Given the description of an element on the screen output the (x, y) to click on. 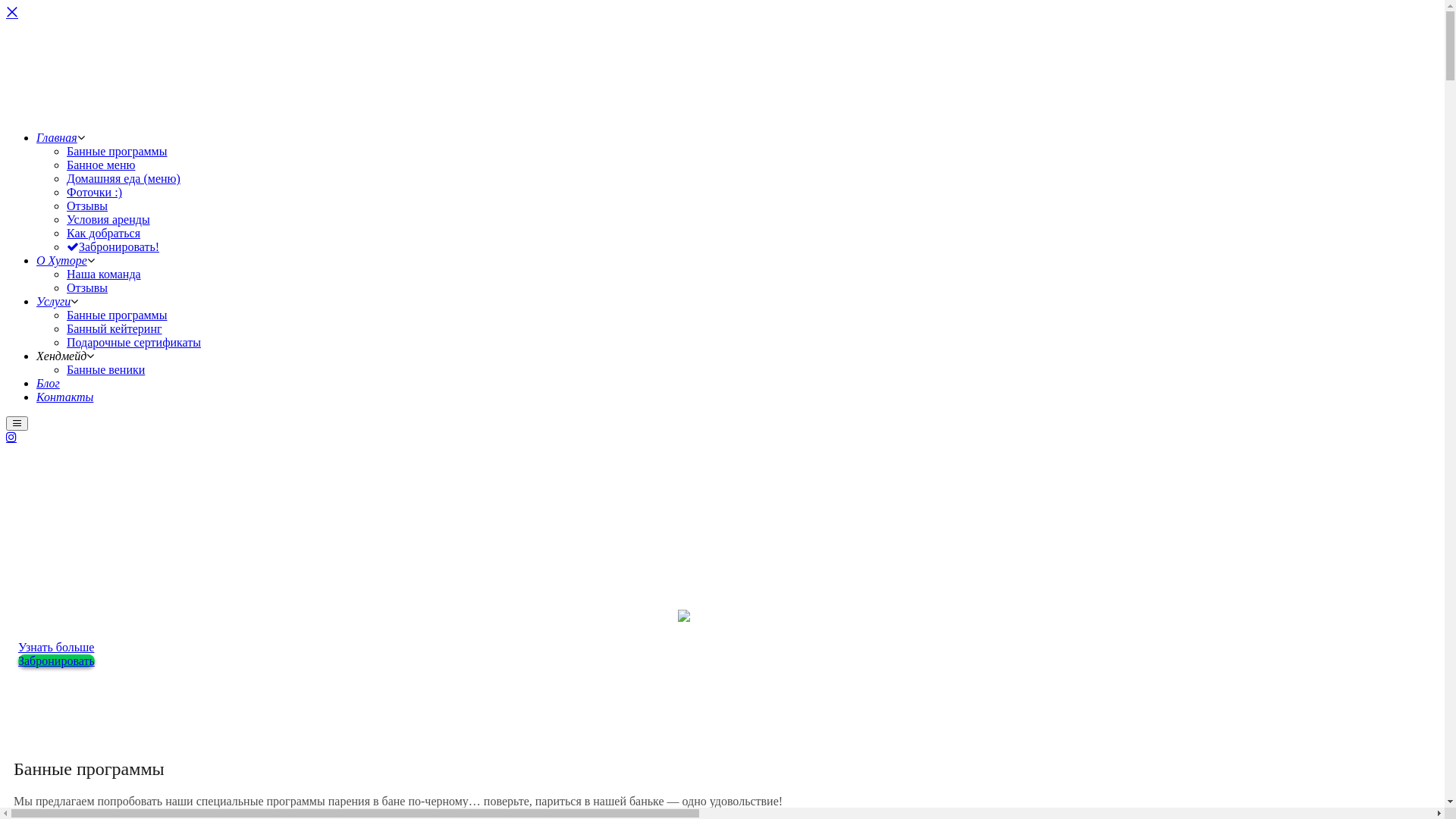
xutorzdorovia.by Element type: hover (321, 111)
